Given the description of an element on the screen output the (x, y) to click on. 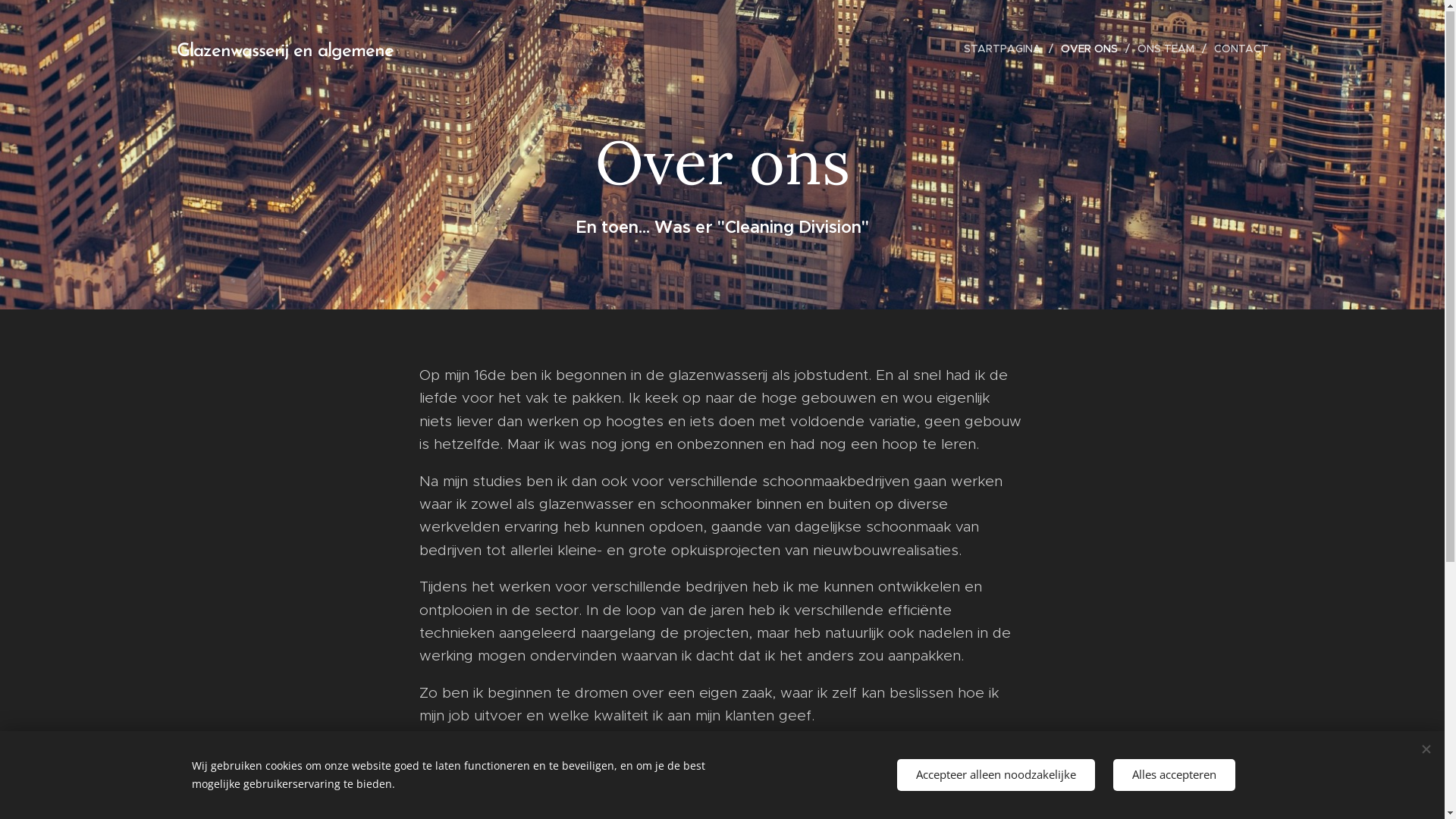
ONS TEAM Element type: text (1167, 49)
Alles accepteren Element type: text (1174, 774)
Accepteer alleen noodzakelijke Element type: text (995, 774)
Glazenwasserij en algemene Element type: text (334, 49)
STARTPAGINA Element type: text (1006, 49)
OVER ONS Element type: text (1090, 49)
CONTACT Element type: text (1236, 49)
